Given the description of an element on the screen output the (x, y) to click on. 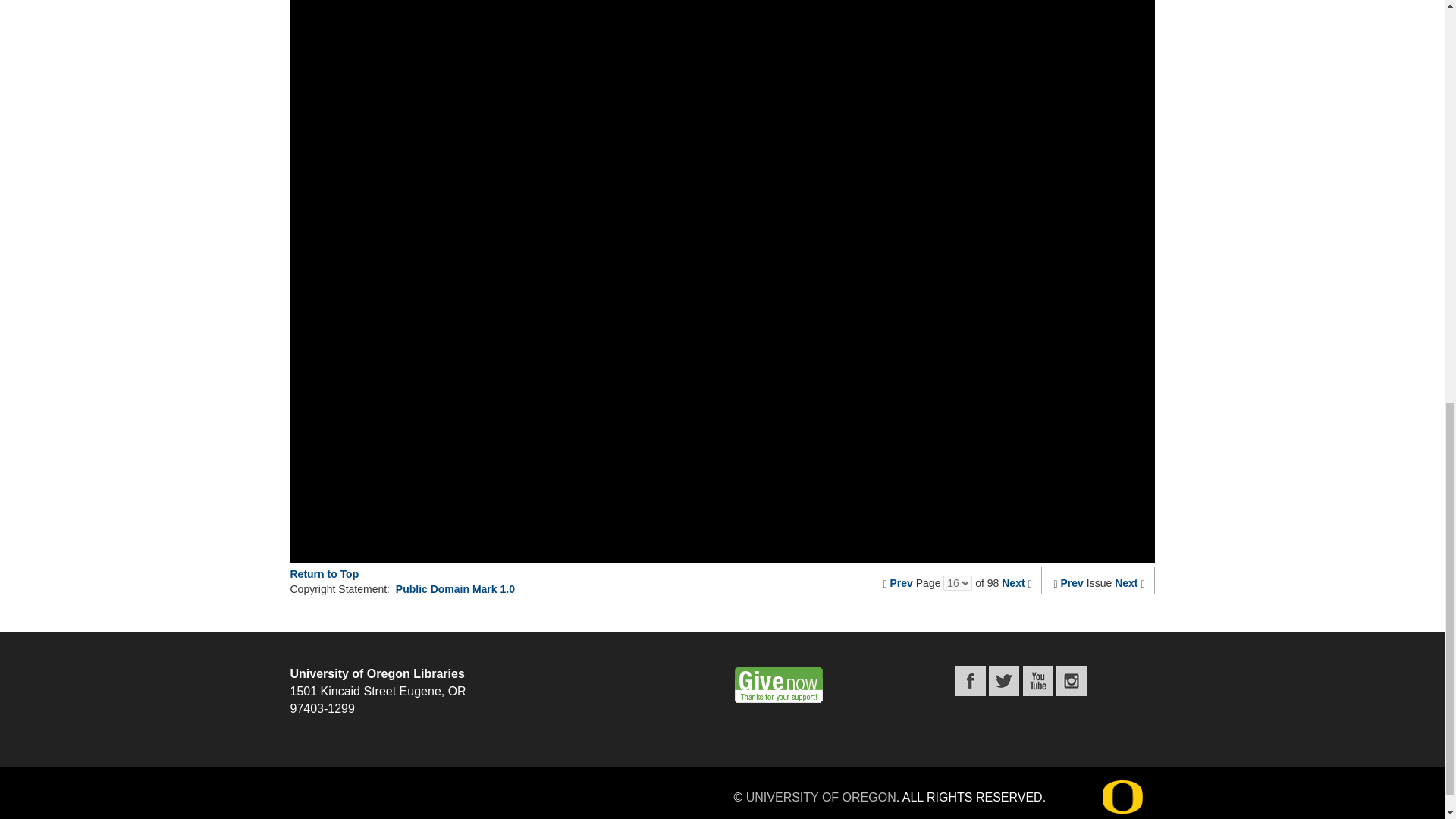
Public Domain Mark 1.0 (455, 589)
Return to Top (323, 573)
Next (1126, 582)
Prev (1072, 582)
Prev (900, 582)
Next (1013, 582)
